Given the description of an element on the screen output the (x, y) to click on. 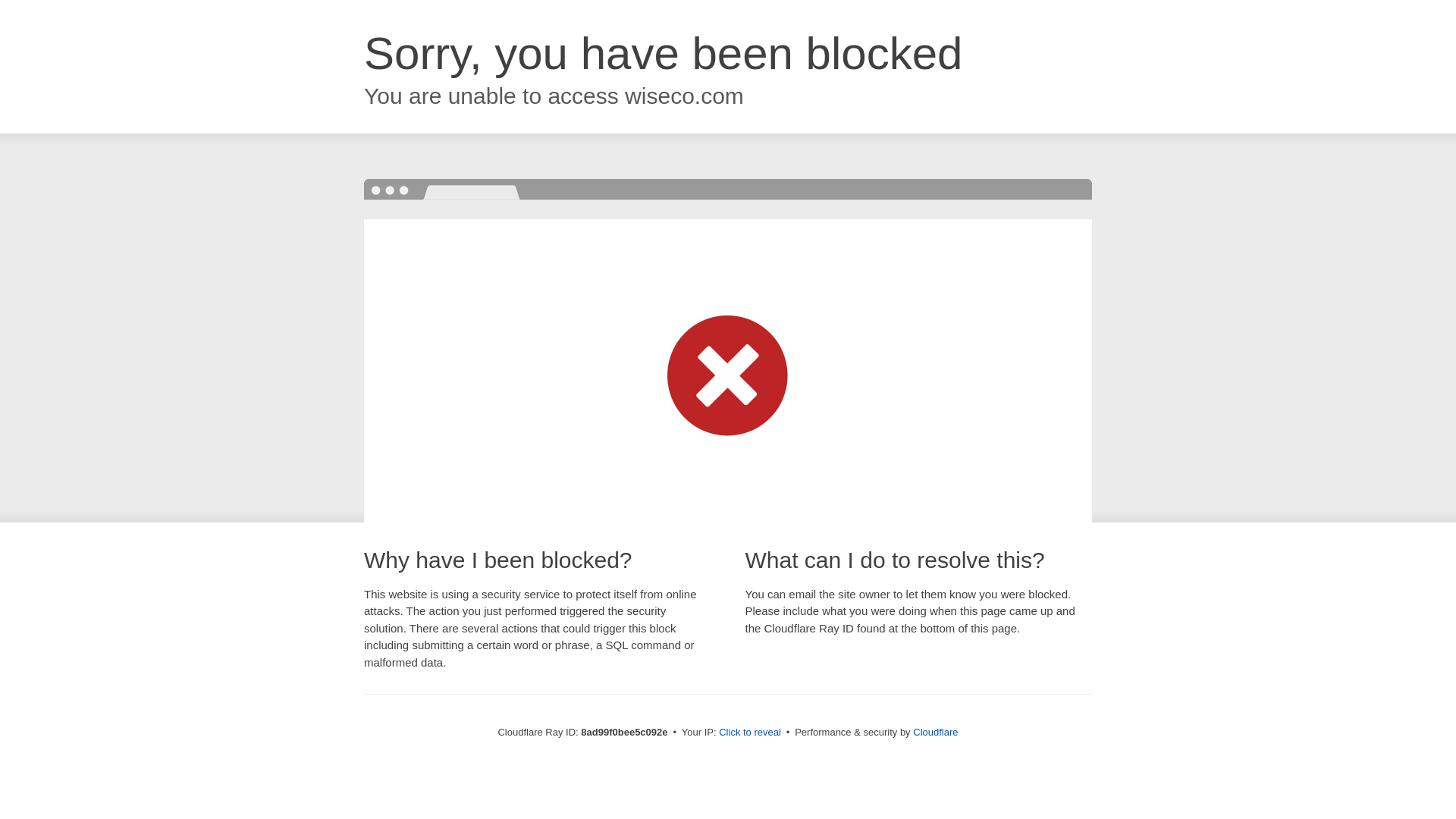
Click to reveal (749, 732)
Cloudflare (935, 731)
